Given the description of an element on the screen output the (x, y) to click on. 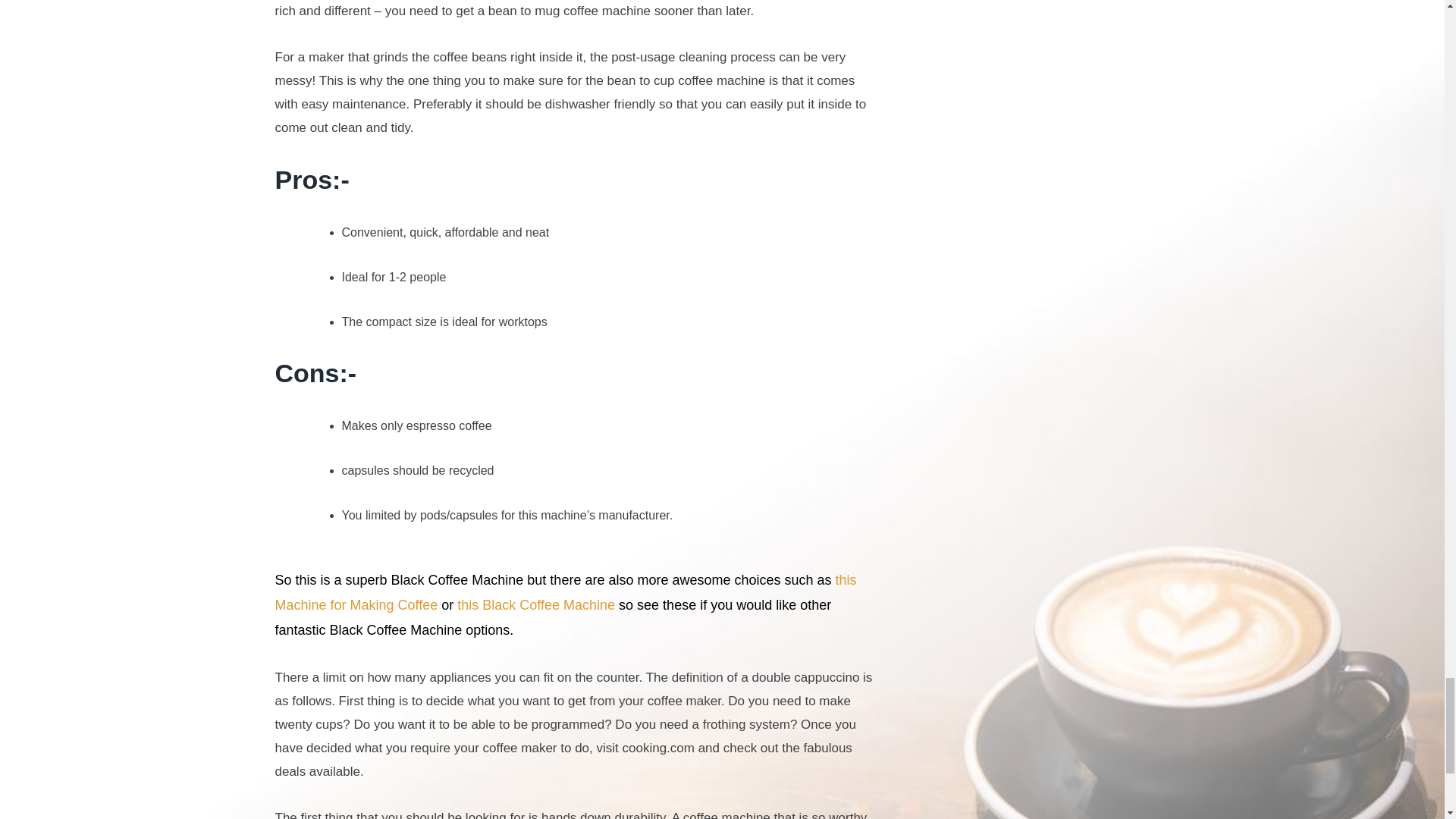
this Black Coffee Machine (535, 604)
this Machine for Making Coffee (565, 592)
